Given the description of an element on the screen output the (x, y) to click on. 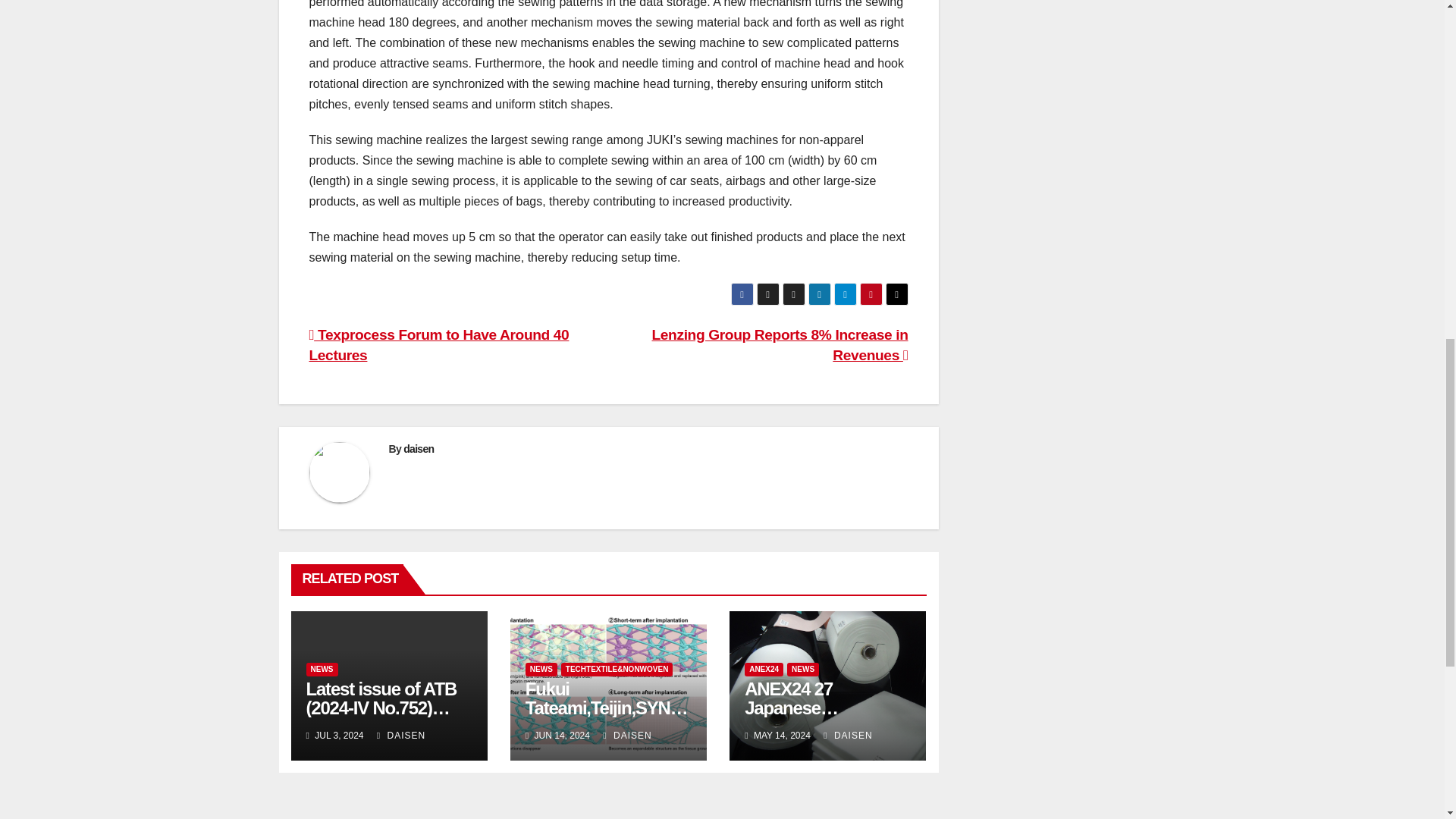
NEWS (541, 669)
DAISEN (401, 735)
daisen (418, 449)
ANEX24 (763, 669)
Texprocess Forum to Have Around 40 Lectures (438, 344)
NEWS (802, 669)
Permalink to: ANEX24 27 Japanese Companies Are Exhibiting (805, 716)
DAISEN (626, 735)
ANEX24 27 Japanese Companies Are Exhibiting (805, 716)
NEWS (321, 669)
